Given the description of an element on the screen output the (x, y) to click on. 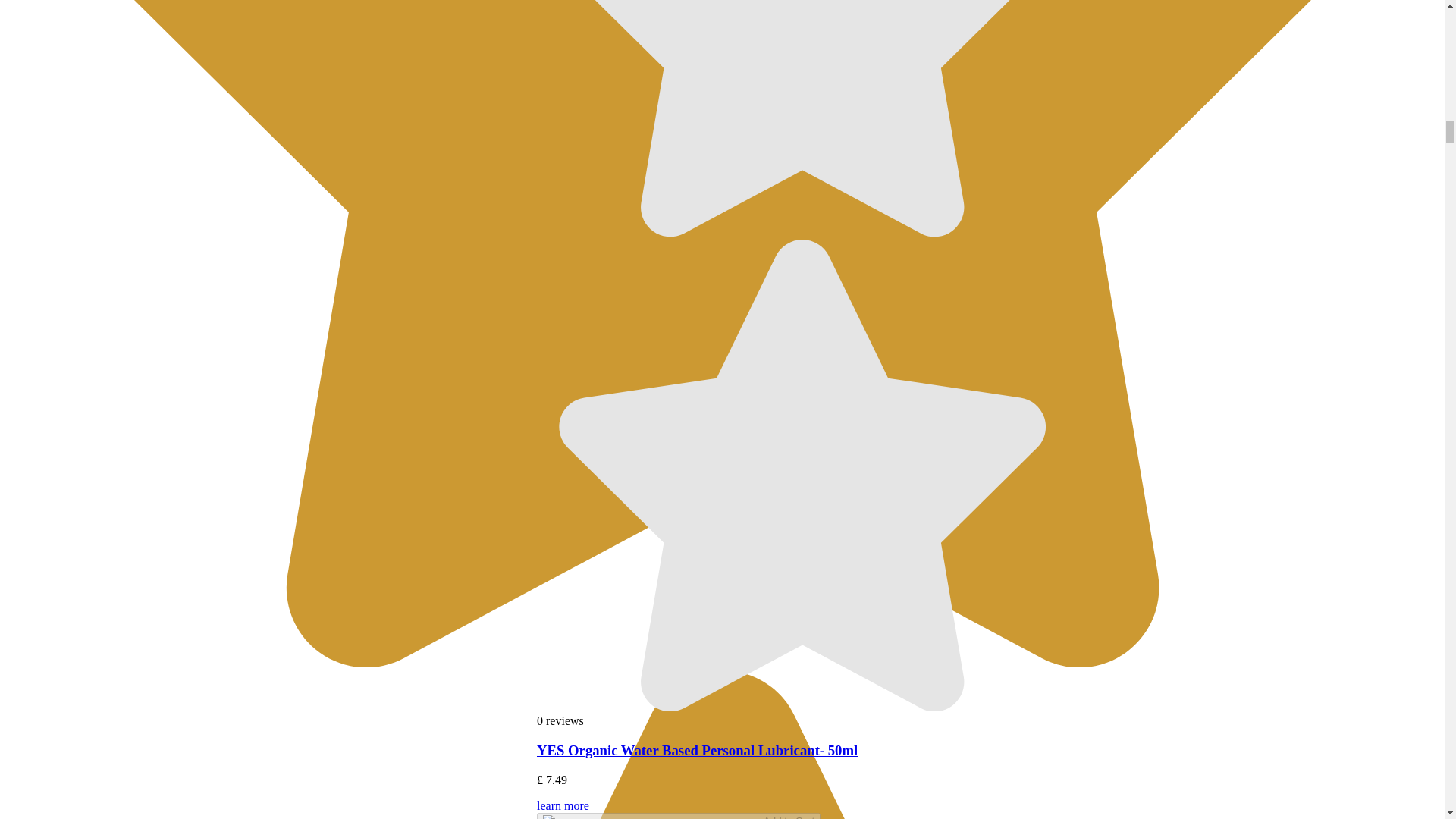
YES Organic Water Based Personal Lubricant- 50ml (697, 750)
learn more (802, 809)
